Given the description of an element on the screen output the (x, y) to click on. 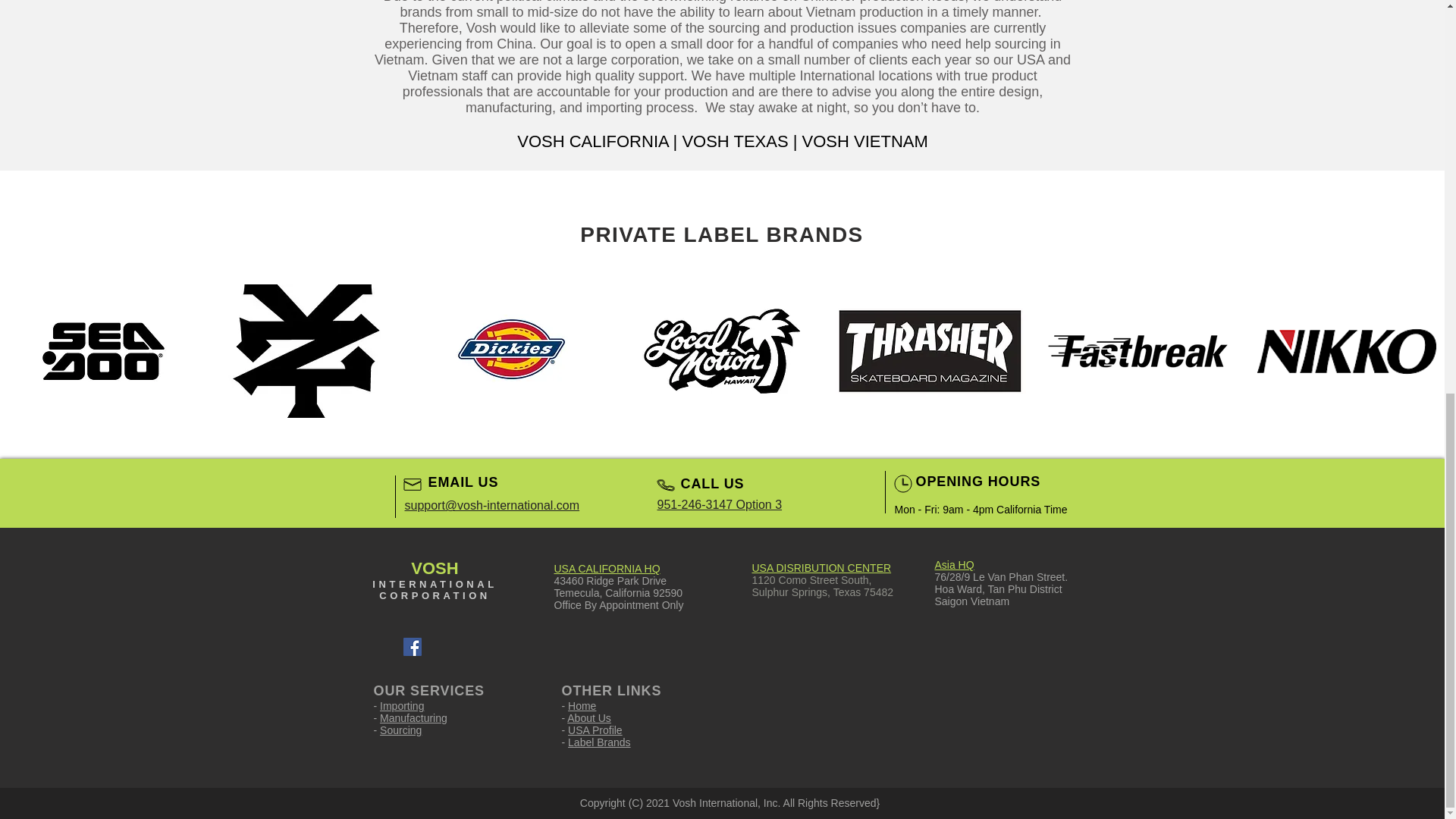
Label Brands (598, 742)
USA Profile (595, 729)
Sourcing (401, 729)
Home (581, 705)
Importing (401, 705)
Manufacturing (413, 717)
951-246-3147 Option 3 (718, 504)
About Us (589, 717)
VOSH (434, 568)
